Given the description of an element on the screen output the (x, y) to click on. 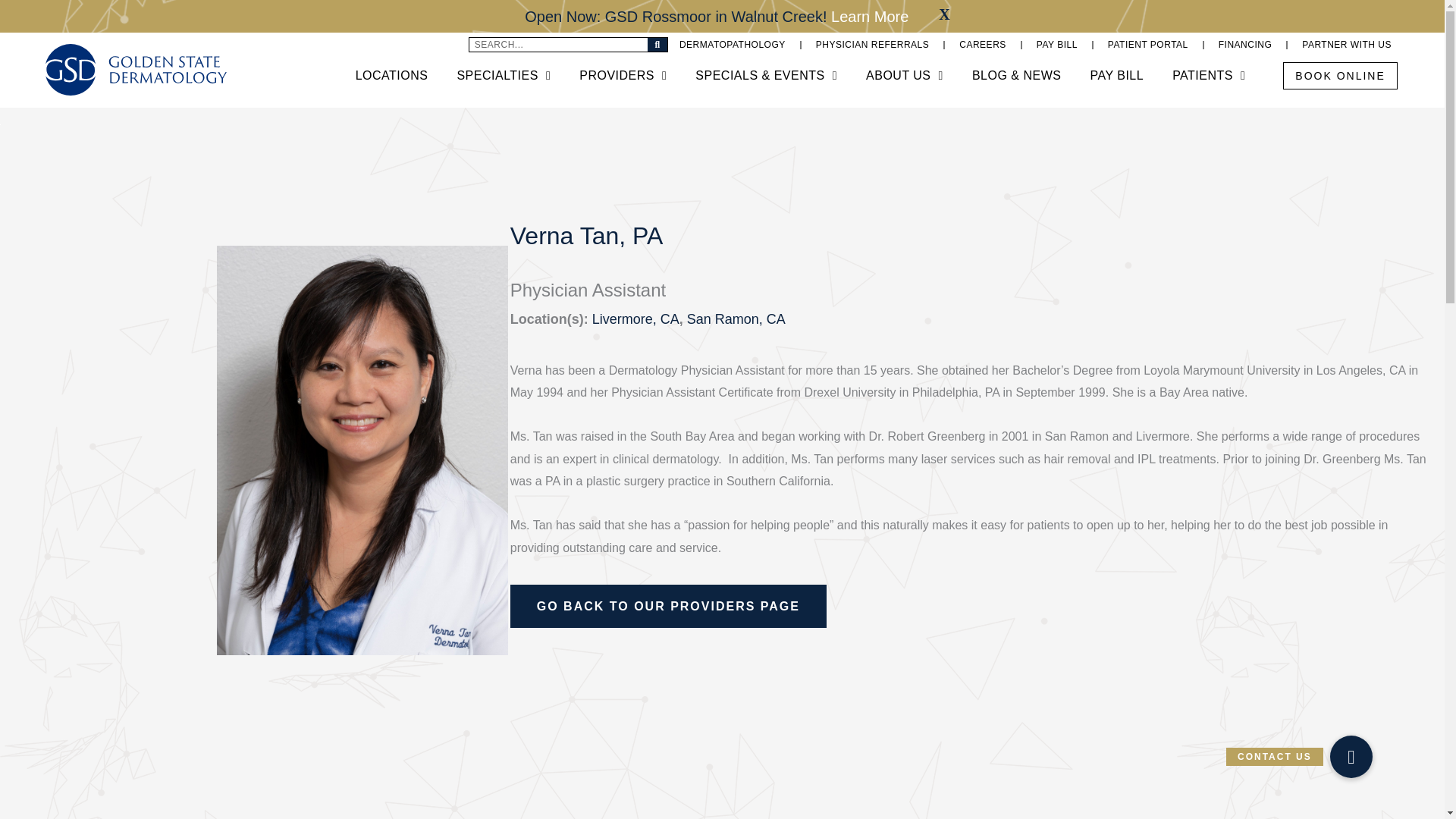
SPECIALTIES (502, 75)
Learn More (869, 16)
Search (656, 44)
LOCATIONS (391, 75)
PHYSICIAN REFERRALS (872, 44)
CAREERS (982, 44)
Open Now: GSD Rossmoor in Walnut Creek! (677, 16)
FINANCING (1245, 44)
PARTNER WITH US (1346, 44)
PATIENT PORTAL (1147, 44)
PAY BILL (1056, 44)
DERMATOPATHOLOGY (732, 44)
